Given the description of an element on the screen output the (x, y) to click on. 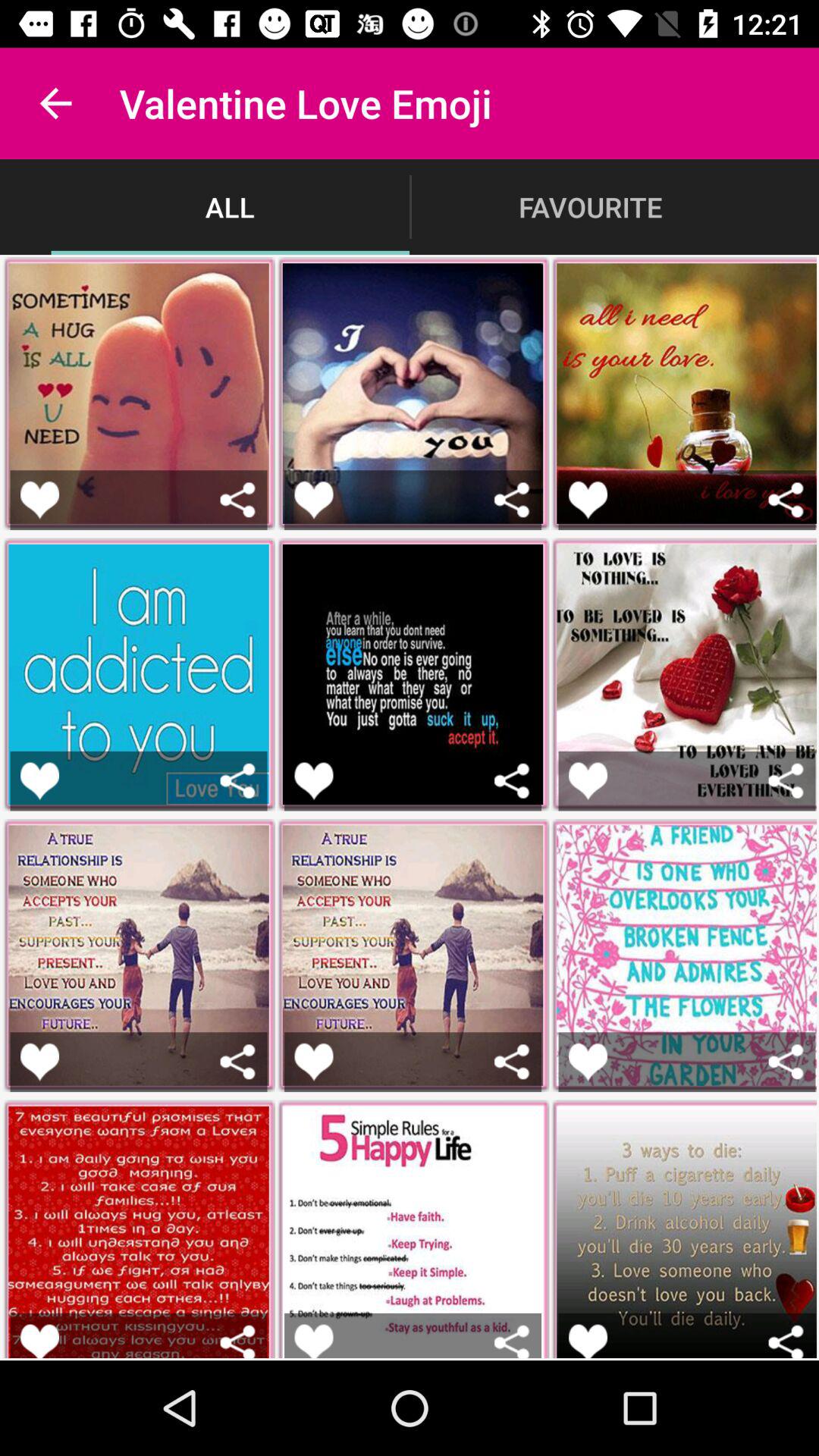
share emoji (237, 1061)
